Given the description of an element on the screen output the (x, y) to click on. 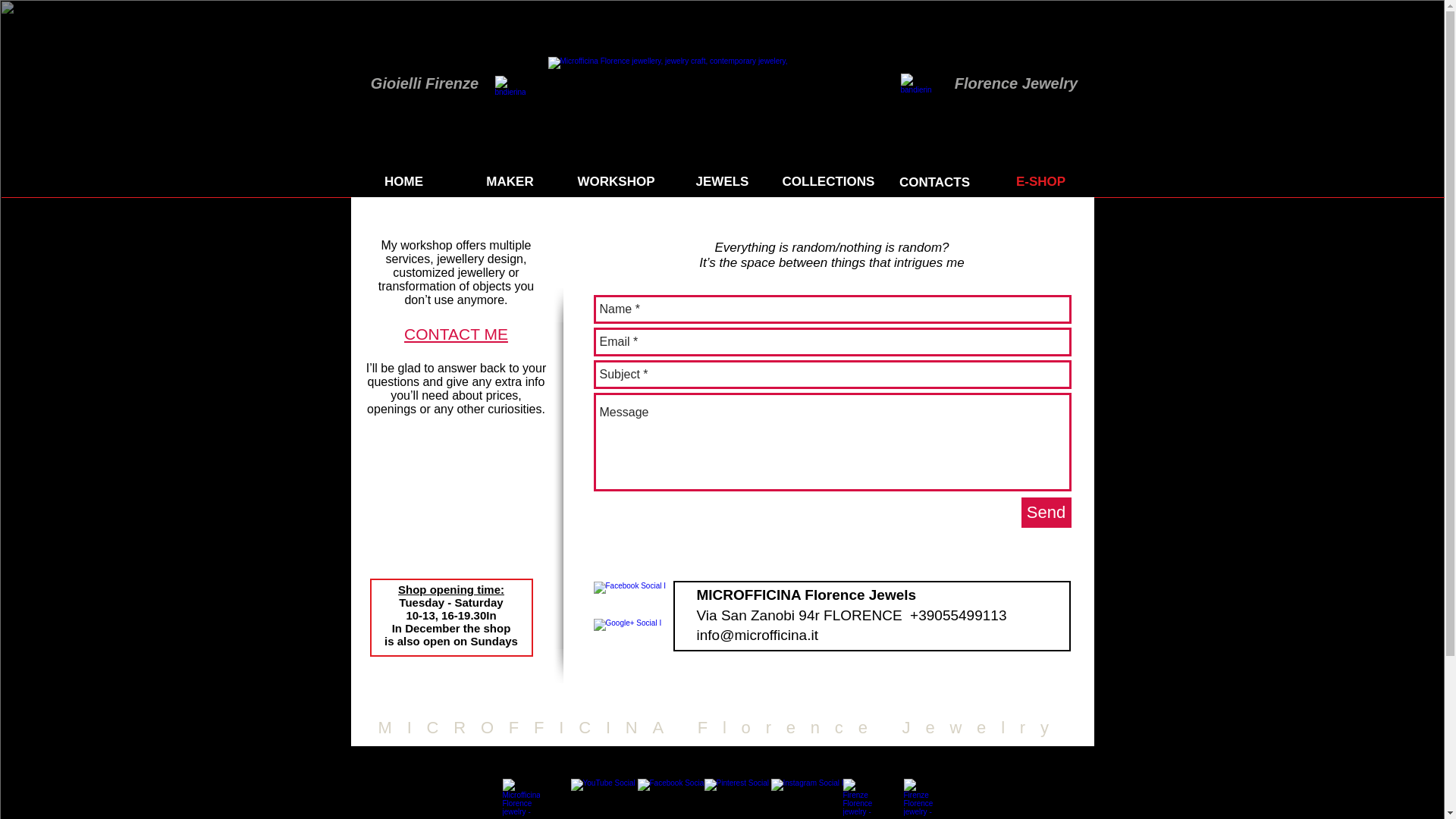
Send (1045, 512)
MAKER (509, 181)
MICROFFICINA Florence jewelry (717, 82)
Buy now! (520, 797)
Gioielli Firenze (424, 82)
give us a feedback, please! (861, 797)
JEWELS (721, 181)
E-SHOP (1040, 181)
COLLECTIONS (827, 181)
HOME (403, 181)
